Given the description of an element on the screen output the (x, y) to click on. 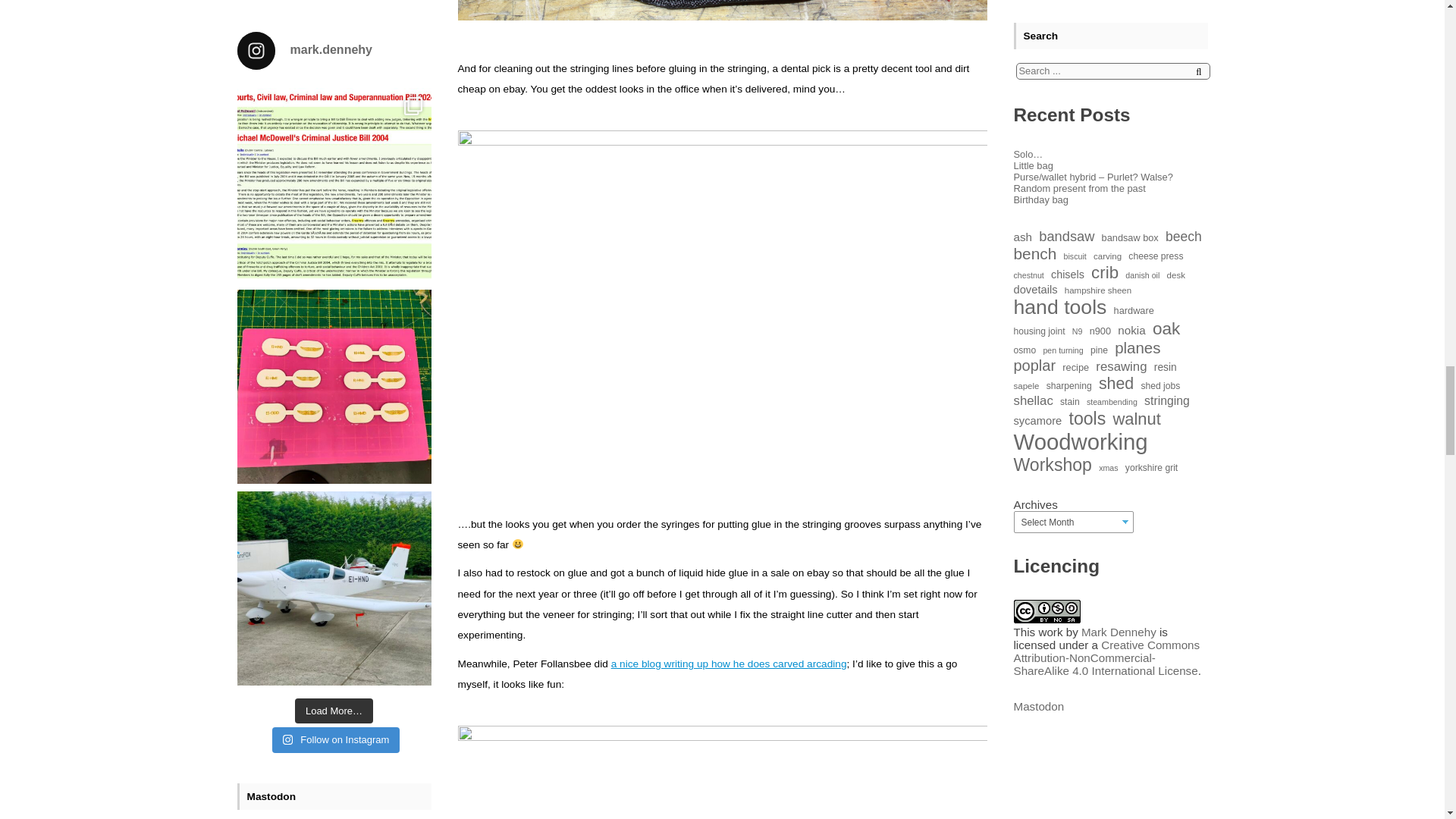
a nice blog writing up how he does carved arcading (729, 663)
